Given the description of an element on the screen output the (x, y) to click on. 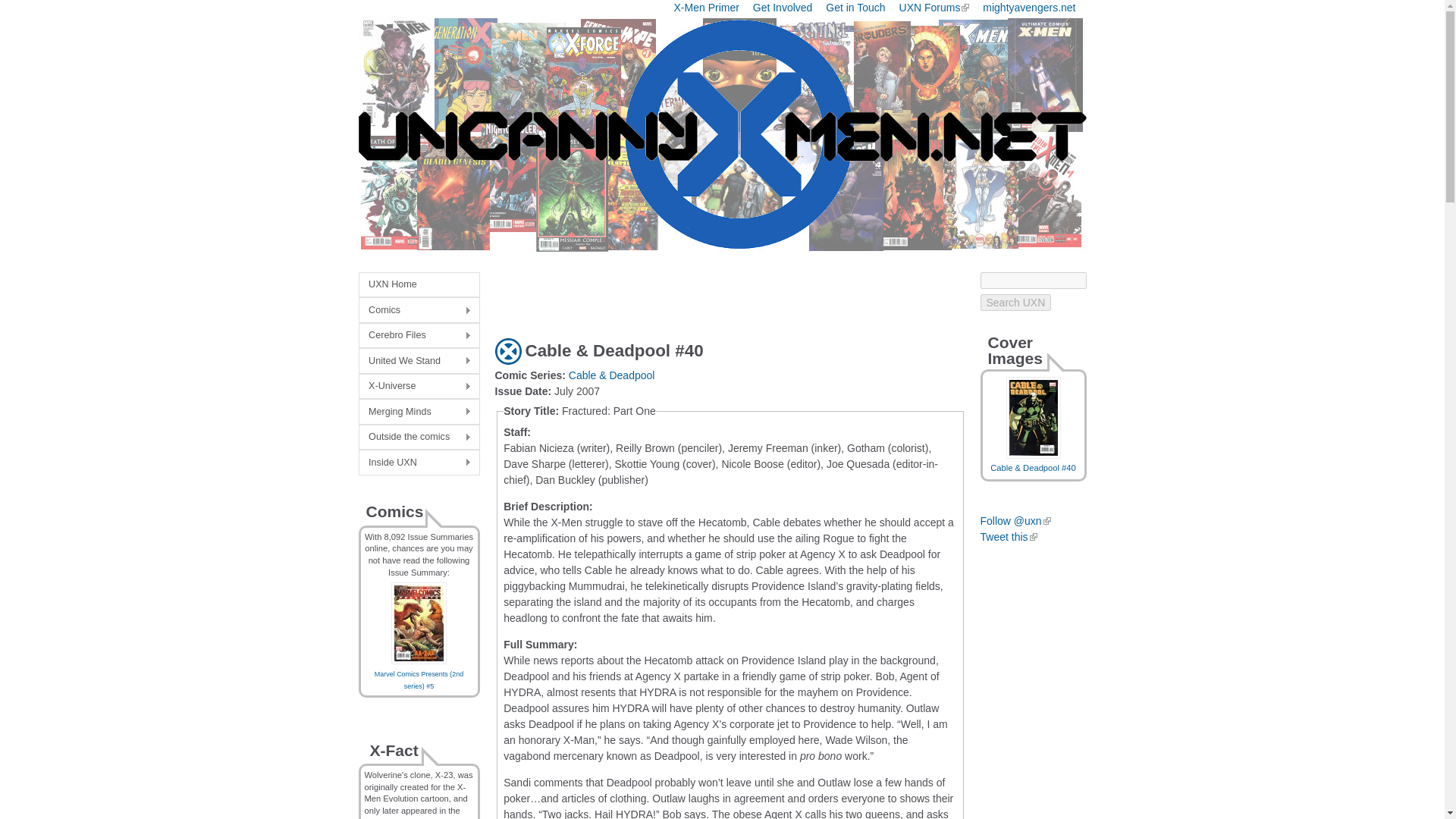
Get Involved (782, 7)
section for articles that don't belong anywhere else (418, 411)
Contribute to the site (782, 7)
Search UXN (1015, 302)
This section is devoted to the X-Men characters themselves (418, 335)
Get in Touch (855, 7)
UXN Home (418, 284)
Advertisement (671, 294)
Sections devoted to X-Men characters outside the comic books (418, 437)
